Given the description of an element on the screen output the (x, y) to click on. 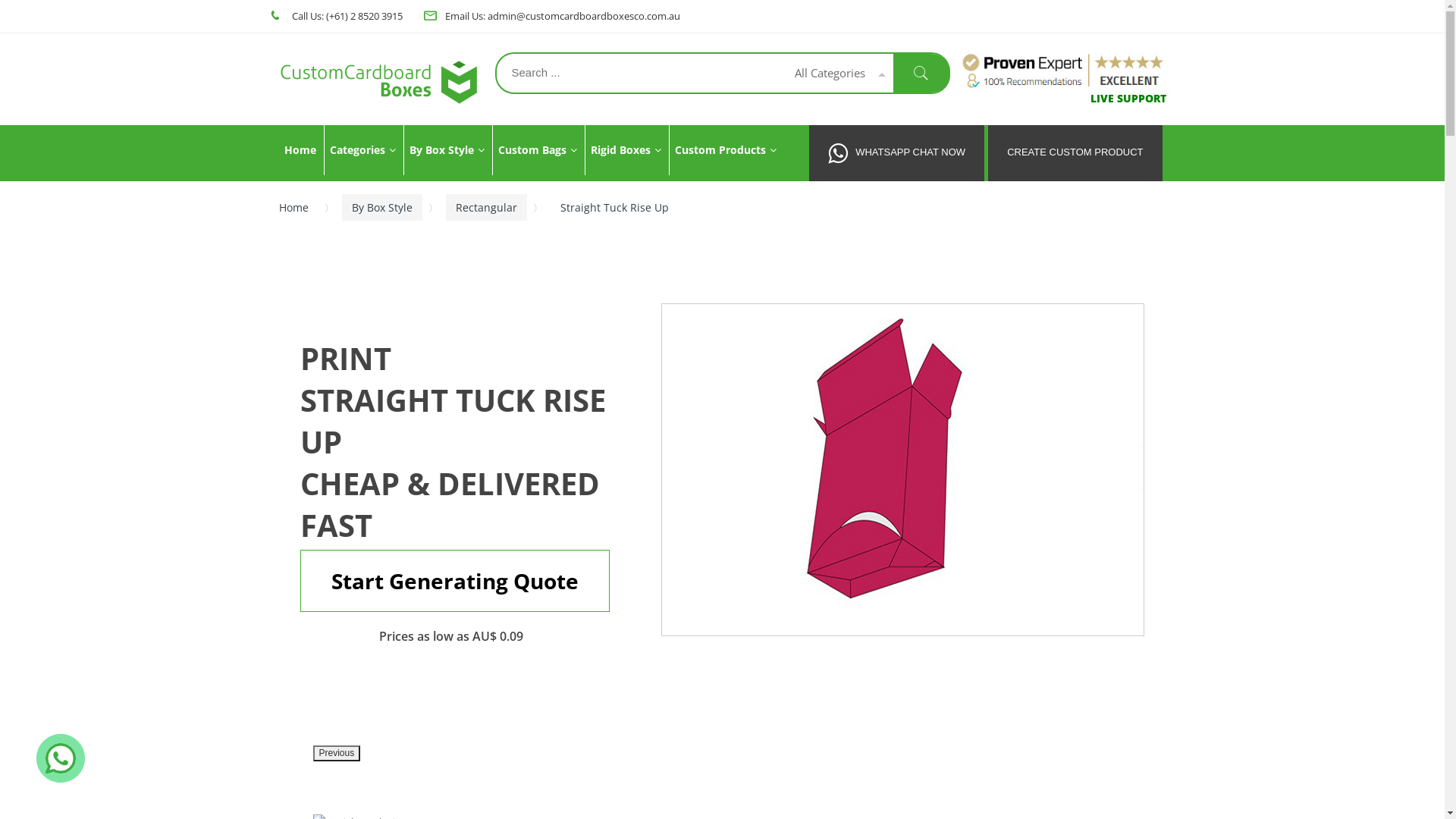
By Box Style Element type: text (446, 150)
LIVE SUPPORT Element type: text (1128, 98)
Home Element type: text (300, 150)
Categories Element type: text (361, 150)
Search Element type: hover (921, 72)
Straight Tuck Rise Up Element type: hover (902, 469)
Rectangular Element type: text (486, 207)
Rigid Boxes Element type: text (624, 150)
CREATE CUSTOM PRODUCT Element type: text (1074, 153)
Home Element type: text (298, 207)
Previous Element type: text (336, 753)
CustomCardboardBoxes Element type: hover (381, 81)
By Box Style Element type: text (381, 207)
All Categories Element type: text (833, 72)
Custom Products Element type: text (724, 150)
Call Us: (+61) 2 8520 3915 Element type: text (345, 15)
Custom Bags Element type: text (536, 150)
Start Generating Quote Element type: text (454, 580)
WHATSAPP CHAT NOW Element type: text (896, 153)
Email Us: admin@customcardboardboxesco.com.au Element type: text (561, 15)
